Given the description of an element on the screen output the (x, y) to click on. 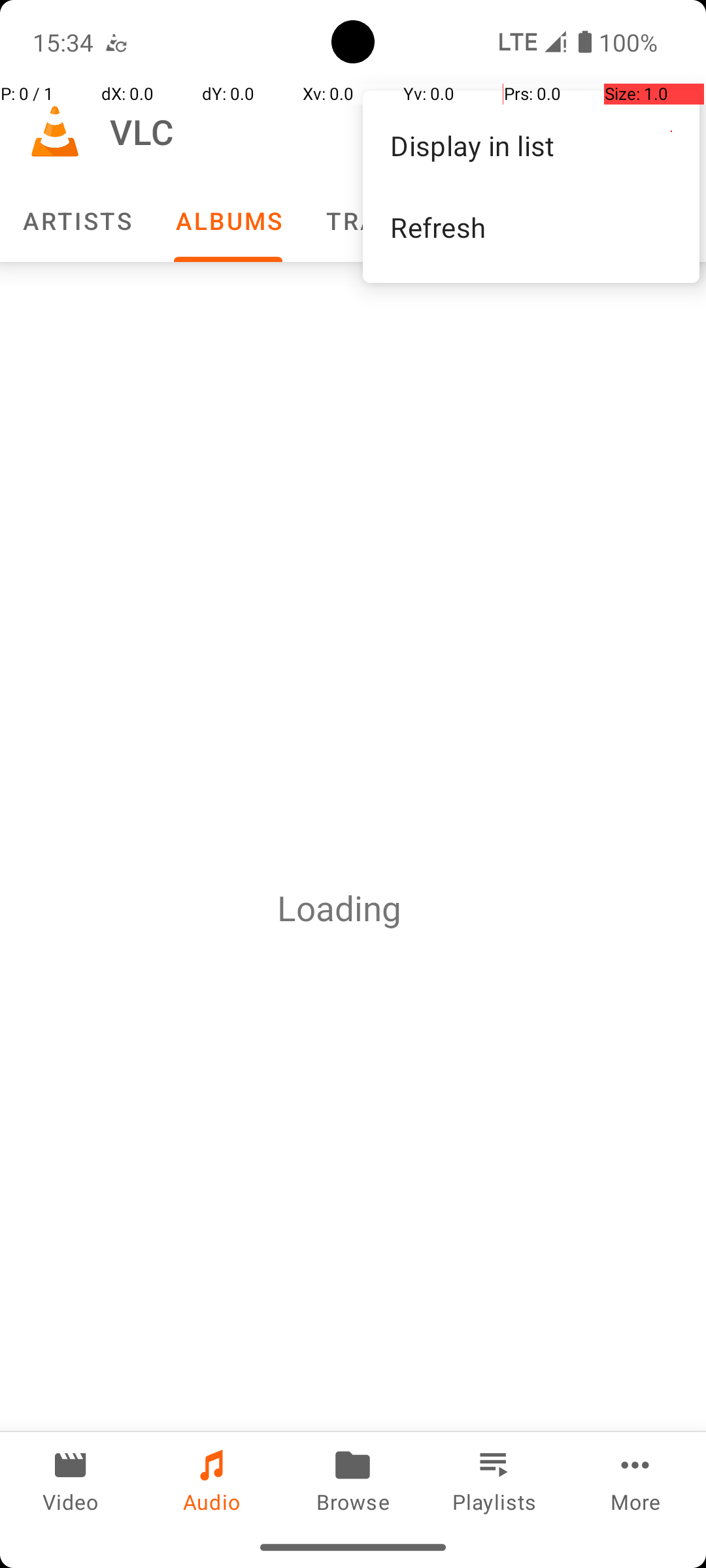
Refresh Element type: android.widget.TextView (531, 226)
